Given the description of an element on the screen output the (x, y) to click on. 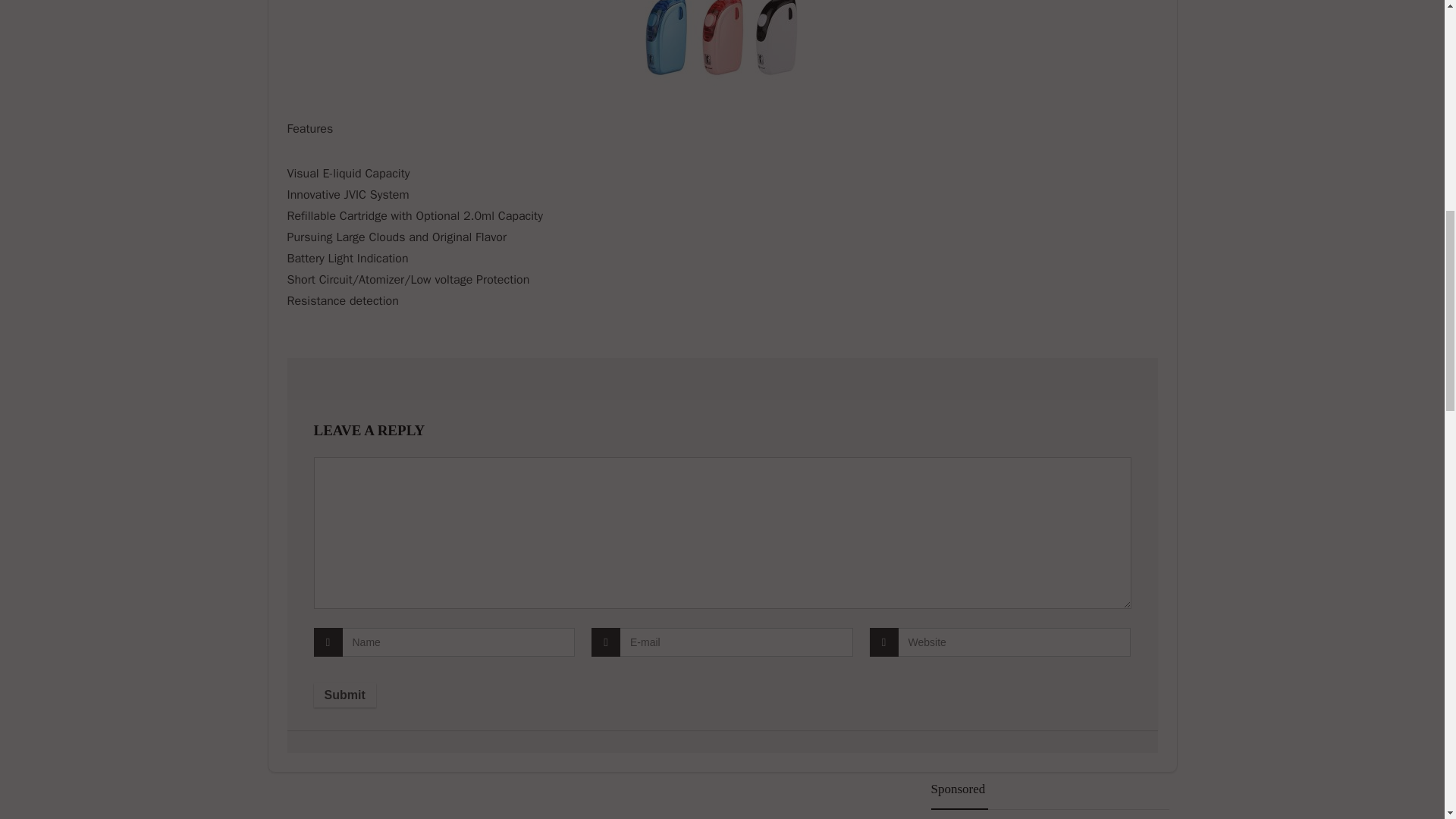
Submit (344, 695)
Submit (344, 695)
